Given the description of an element on the screen output the (x, y) to click on. 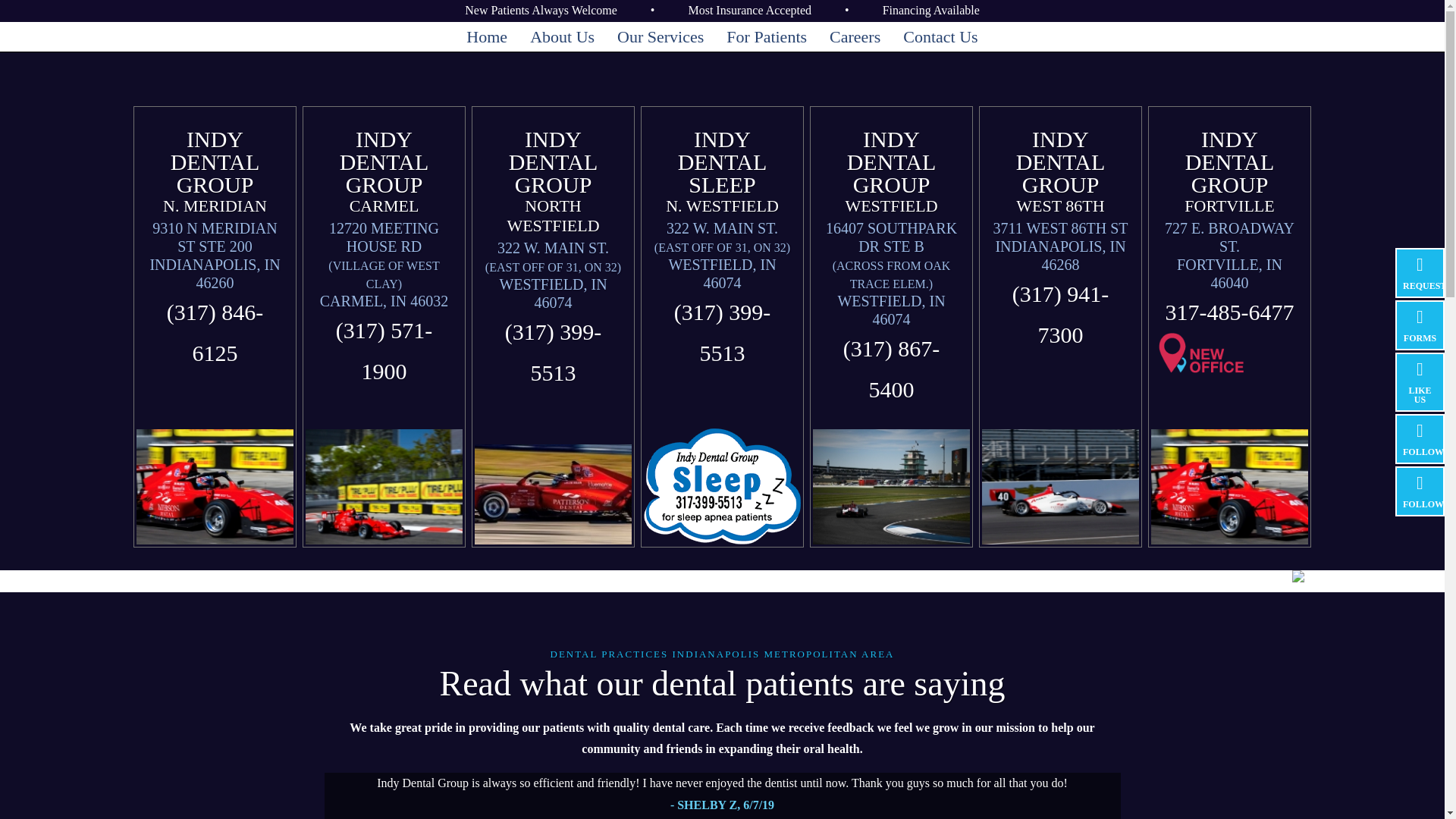
About Us (561, 37)
Dental Services Carmel (660, 37)
Most Insurance Accepted (748, 10)
Our Services (660, 37)
Home (486, 37)
Westfield General Dentistry (486, 37)
Financing Available (930, 10)
New Patients Always Welcome (540, 10)
Family Dentist Indianapolis (561, 37)
